Given the description of an element on the screen output the (x, y) to click on. 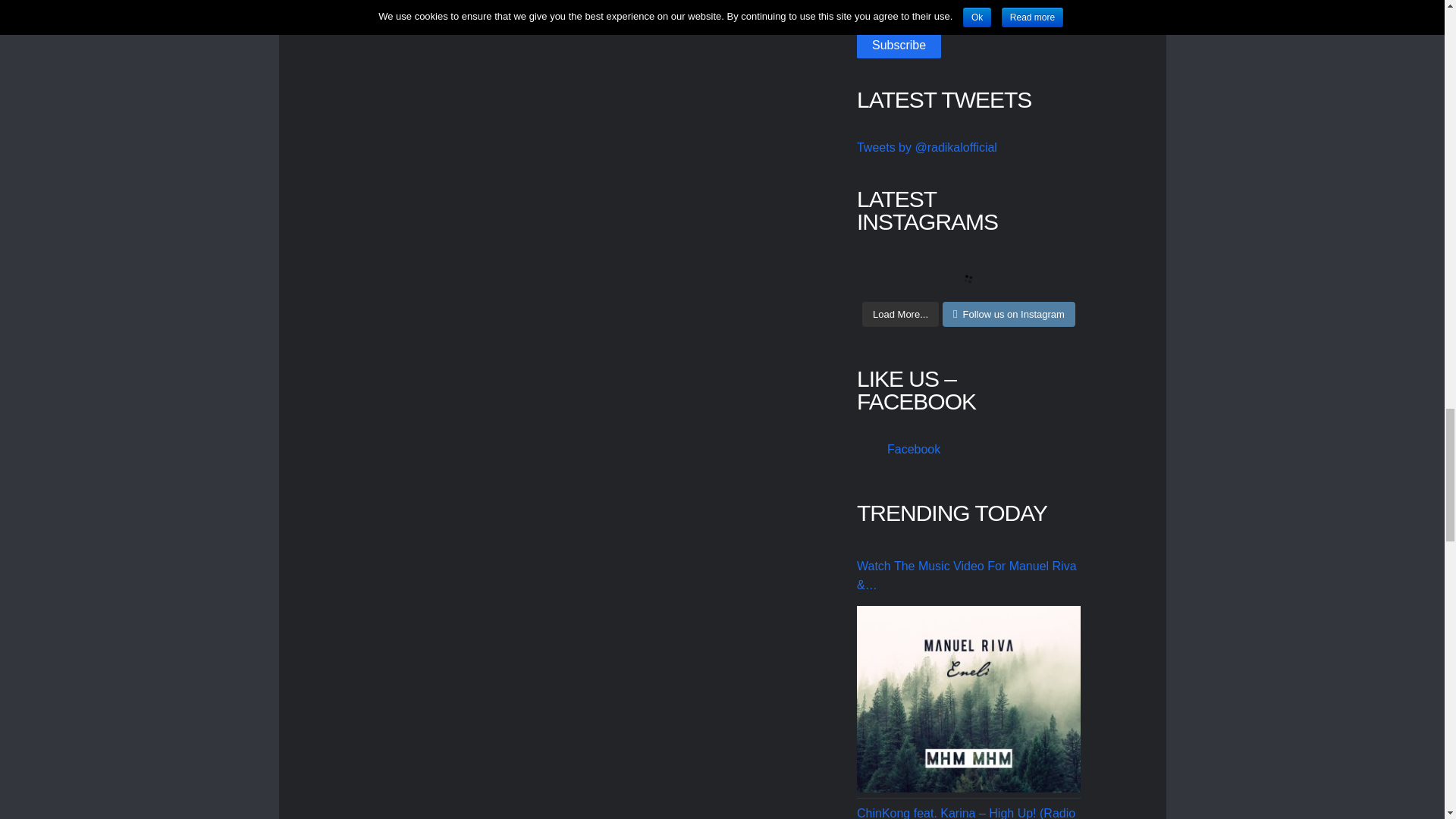
Subscribe (898, 45)
